Given the description of an element on the screen output the (x, y) to click on. 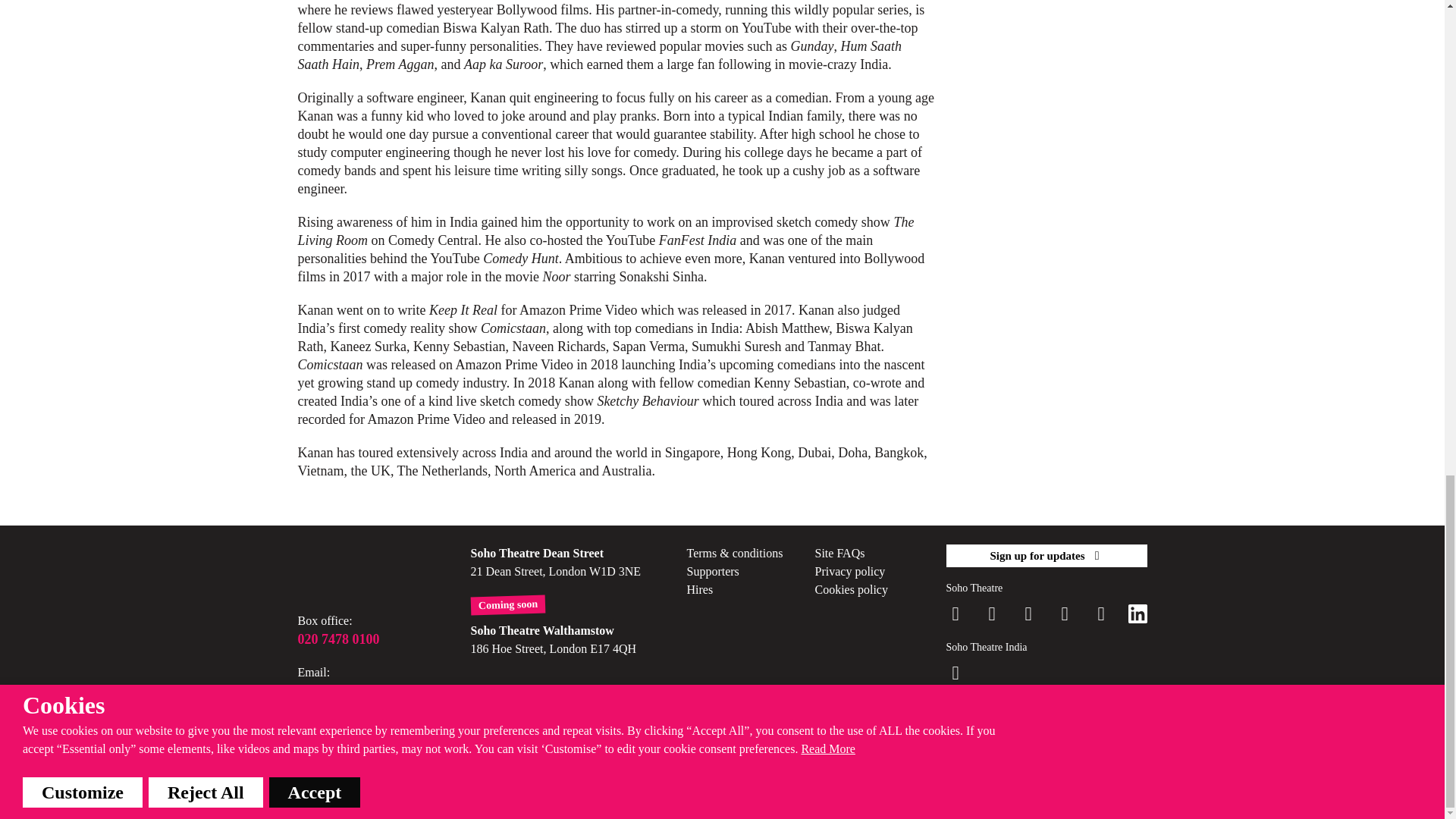
020 7478 0100 (358, 638)
Supporters (713, 571)
Hires (700, 589)
